Given the description of an element on the screen output the (x, y) to click on. 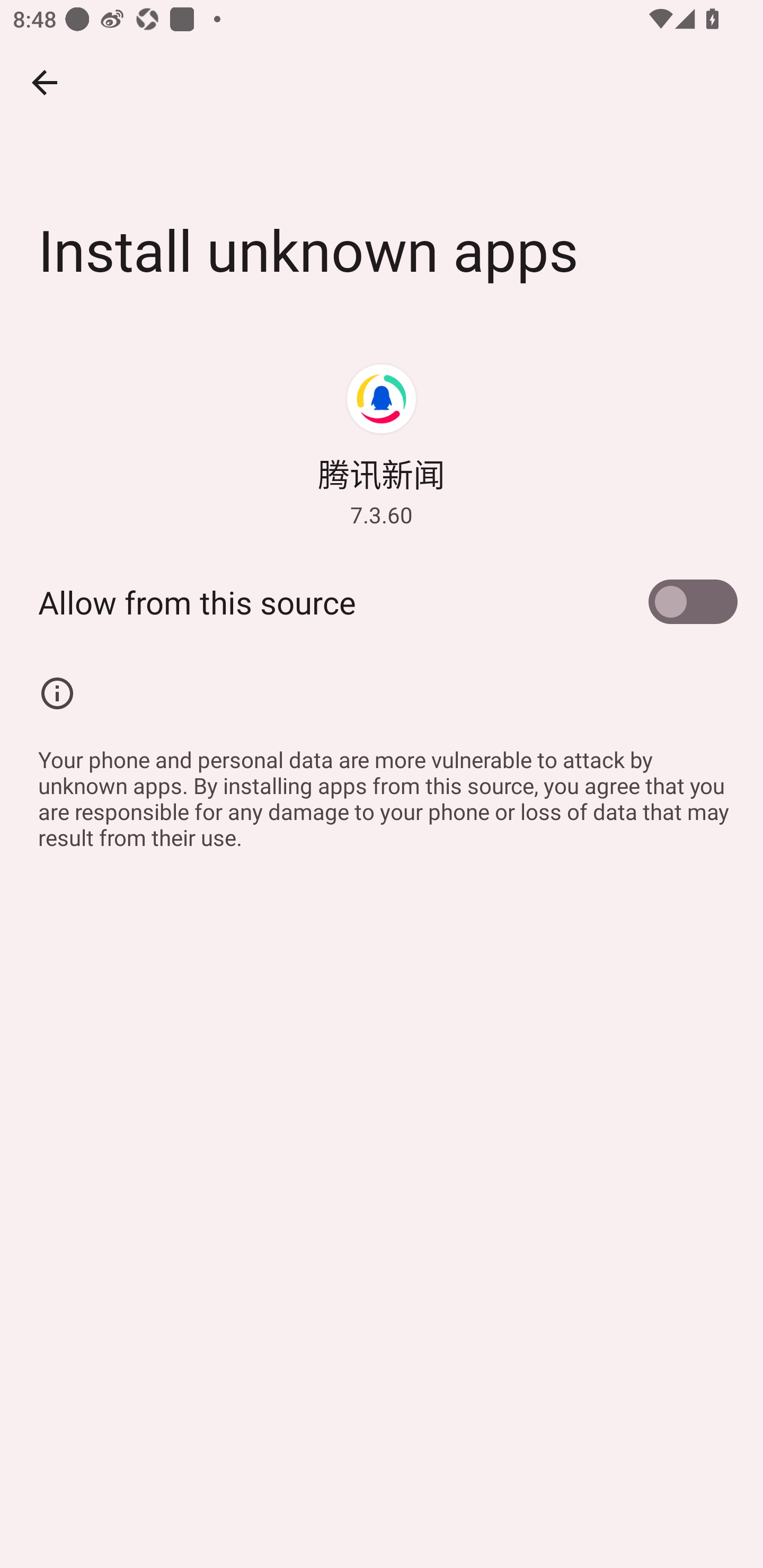
Navigate up (44, 82)
腾讯新闻 7.3.60 (381, 444)
Allow from this source (381, 602)
